Given the description of an element on the screen output the (x, y) to click on. 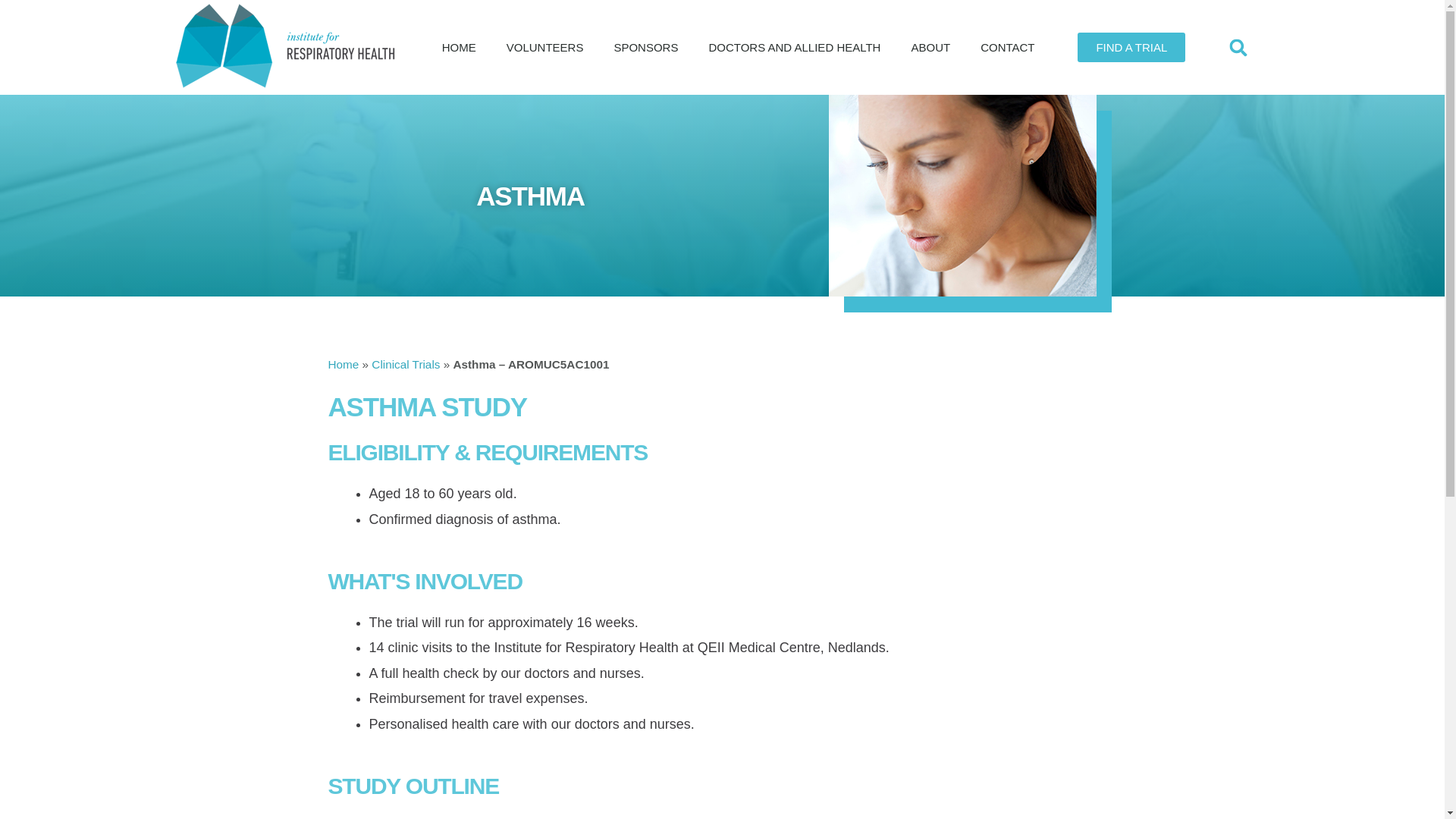
Clinical Trials (405, 364)
SPONSORS (645, 46)
HOME (459, 46)
DOCTORS AND ALLIED HEALTH (794, 46)
Home (342, 364)
CONTACT (1007, 46)
VOLUNTEERS (545, 46)
ABOUT (930, 46)
FIND A TRIAL (1131, 47)
